Given the description of an element on the screen output the (x, y) to click on. 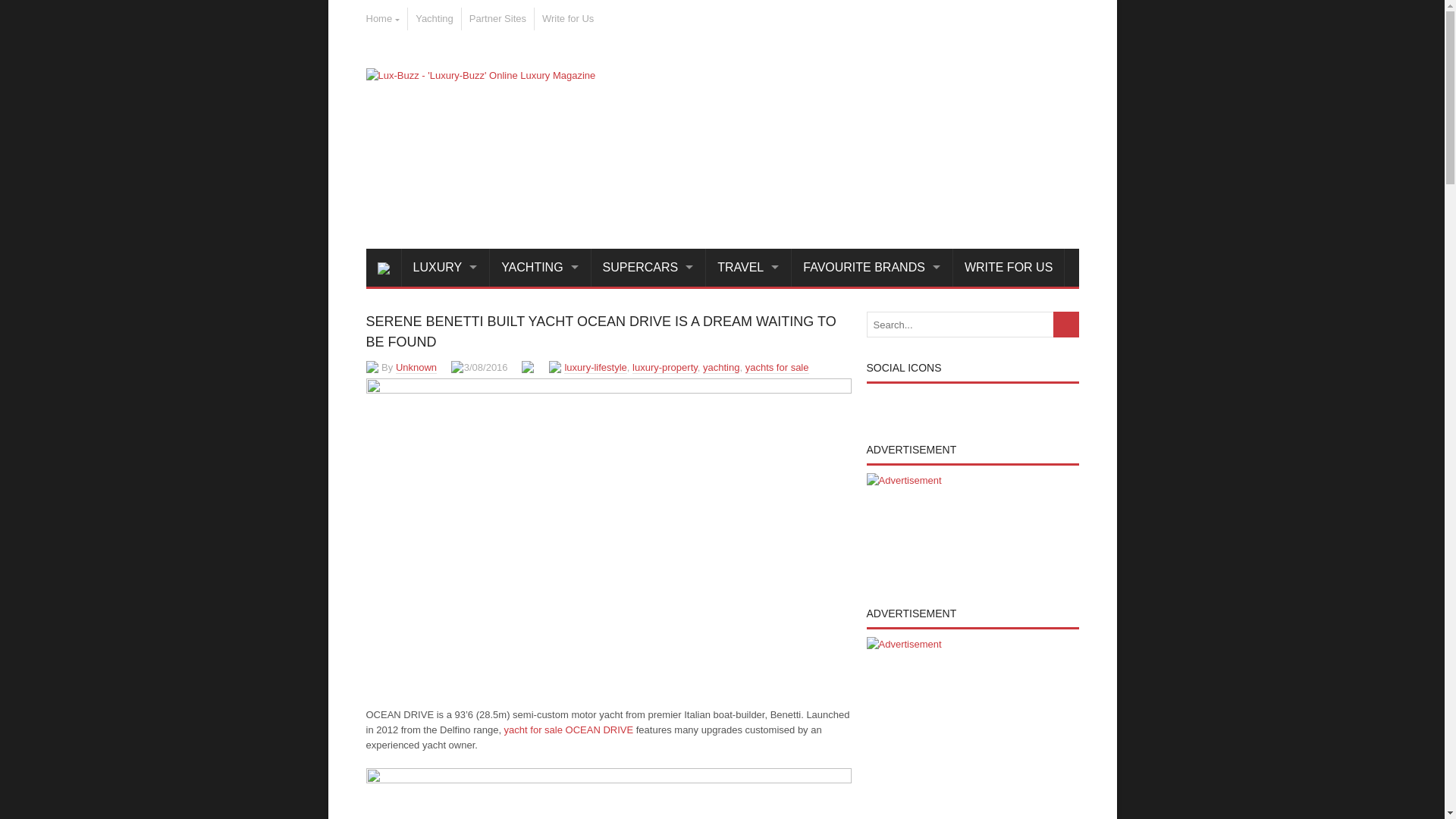
Partner Sites (496, 18)
Write for Us (567, 18)
YACHTING (540, 267)
WRITE FOR US (1008, 267)
yachts for sale (777, 367)
Home (381, 18)
LUXURY (445, 267)
Unknown (416, 367)
yachting (721, 367)
TRAVEL (749, 267)
FAVOURITE BRANDS (872, 267)
Yachting (433, 18)
luxury-lifestyle (595, 367)
SUPERCARS (648, 267)
